Given the description of an element on the screen output the (x, y) to click on. 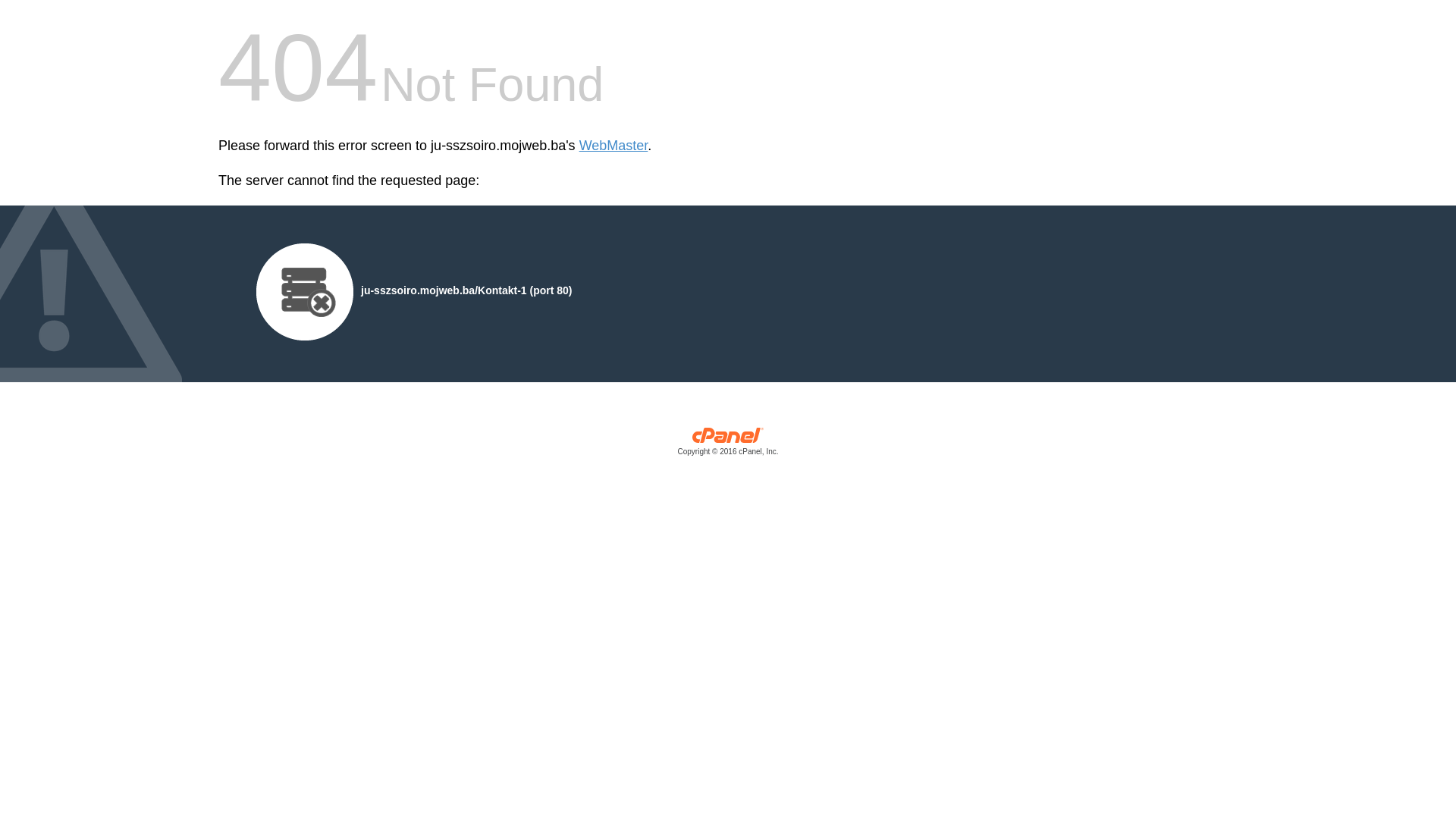
WebMaster Element type: text (613, 145)
